Given the description of an element on the screen output the (x, y) to click on. 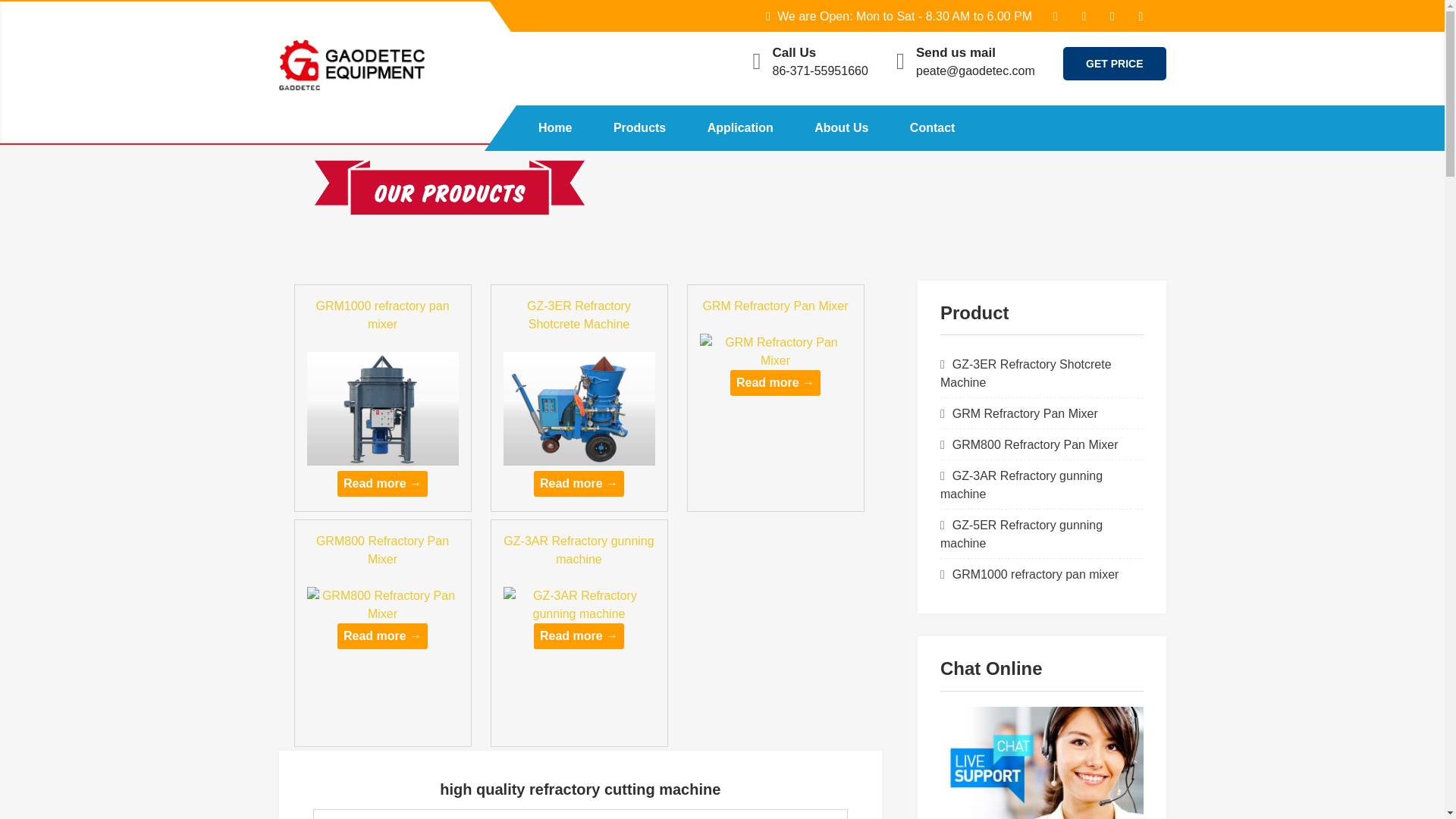
GRM Refractory Pan Mixer (774, 305)
GRM Refractory Pan Mixer (774, 305)
GZ-3ER Refractory Shotcrete Machine (578, 314)
Contact (932, 127)
Products (639, 127)
GZ-3ER Refractory Shotcrete Machine (579, 483)
About Us (840, 127)
GRM800 Refractory Pan Mixer (1035, 444)
GZ-3ER Refractory Shotcrete Machine (578, 314)
